Given the description of an element on the screen output the (x, y) to click on. 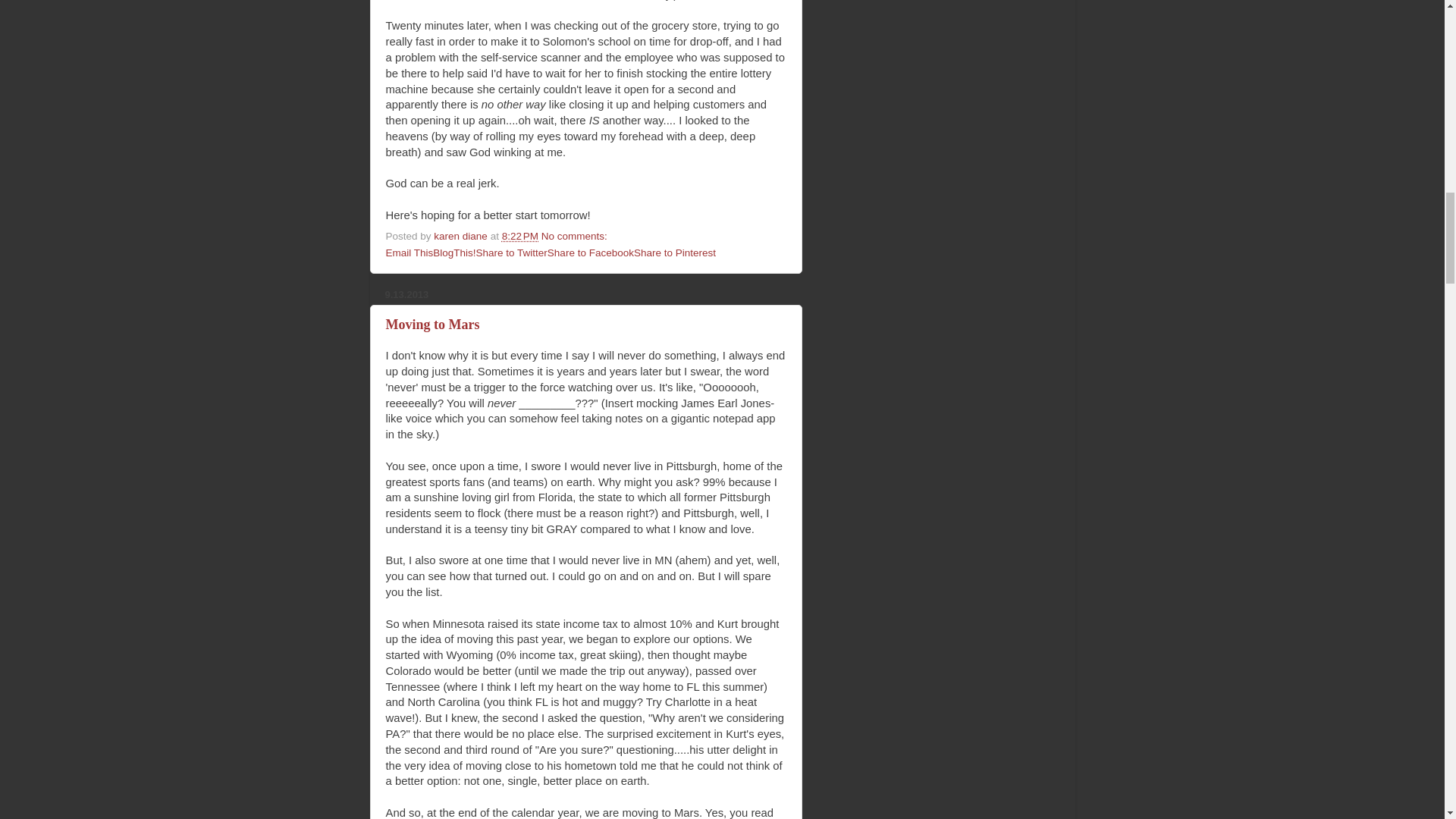
karen diane (461, 235)
BlogThis! (454, 252)
author profile (461, 235)
No comments: (575, 235)
Moving to Mars (432, 324)
Share to Facebook (590, 252)
Share to Twitter (511, 252)
Share to Pinterest (674, 252)
Email This (408, 252)
permanent link (520, 235)
Share to Facebook (590, 252)
Share to Pinterest (674, 252)
BlogThis! (454, 252)
Email Post (617, 235)
